Given the description of an element on the screen output the (x, y) to click on. 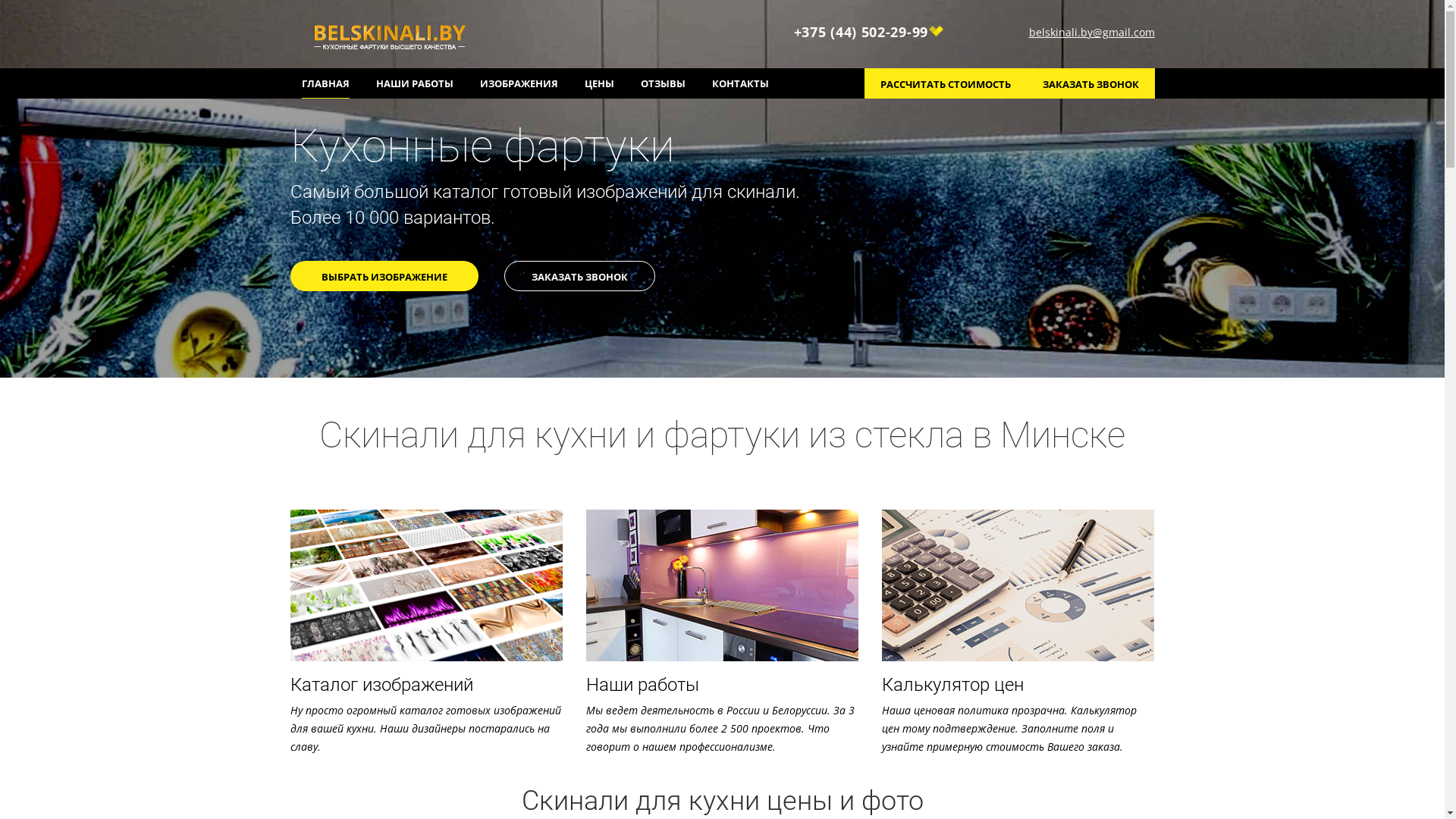
+375 (44) 502-29-99 Element type: text (868, 32)
belskinali.by@gmail.com Element type: text (1082, 32)
